Given the description of an element on the screen output the (x, y) to click on. 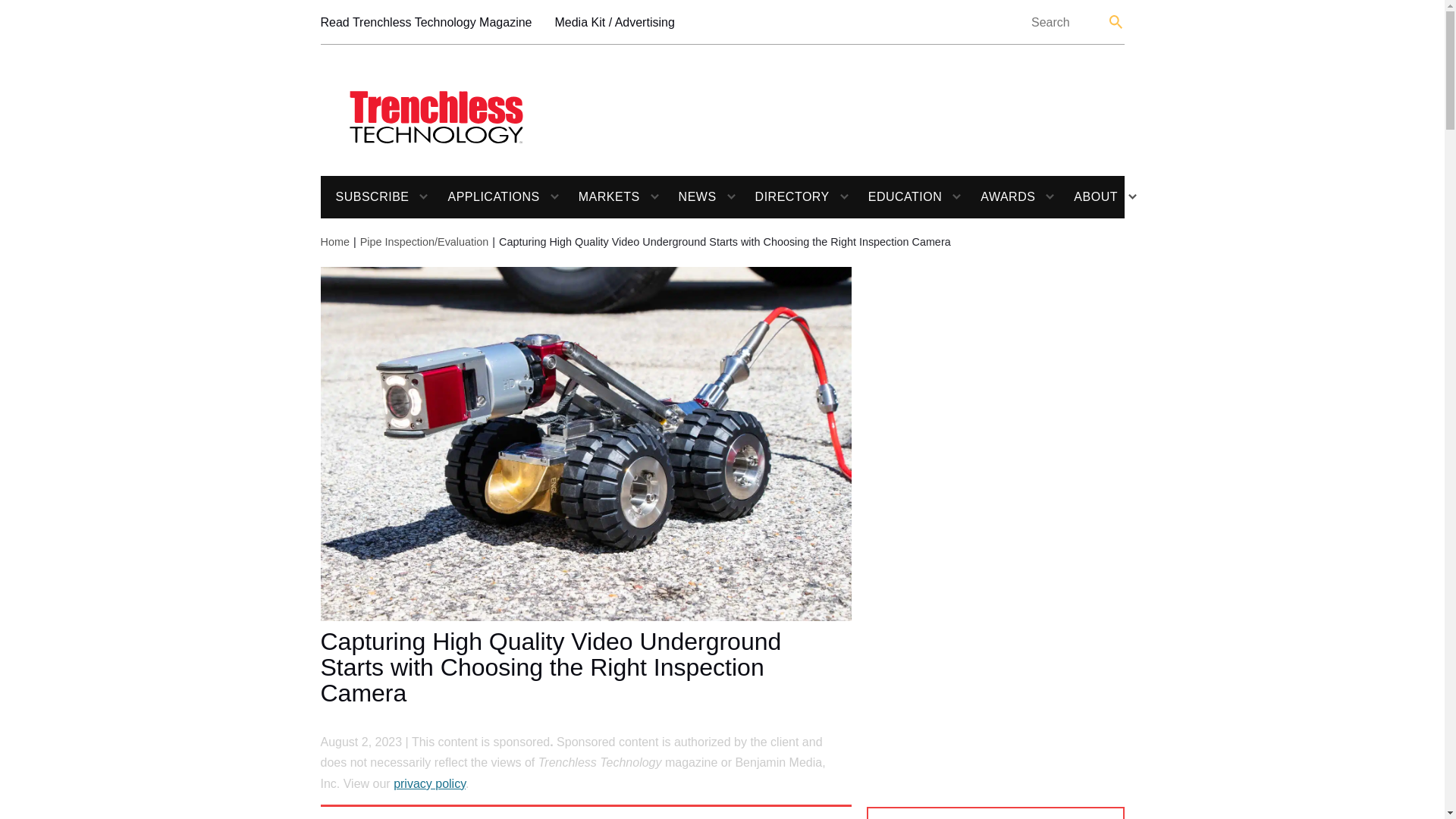
Search (1116, 21)
Read Trenchless Technology Magazine (425, 22)
NEWS (689, 197)
Go to Trenchless Technology. (334, 241)
APPLICATIONS (485, 197)
MARKETS (601, 197)
SUBSCRIBE (364, 197)
